Given the description of an element on the screen output the (x, y) to click on. 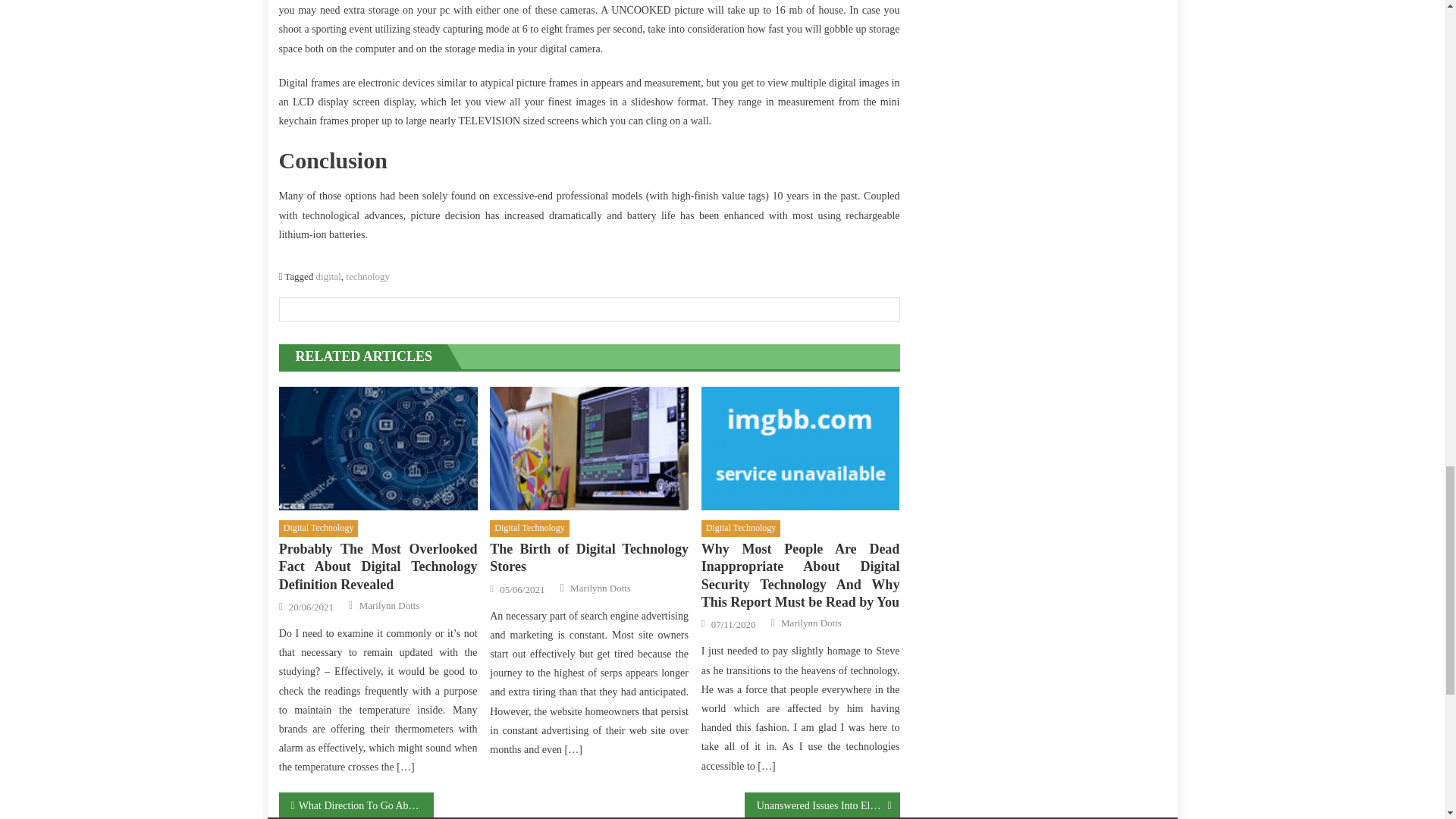
technology (368, 276)
The Birth of Digital Technology Stores (588, 558)
Marilynn Dotts (600, 587)
The Birth of Digital Technology Stores (588, 448)
Digital Technology (318, 528)
digital (327, 276)
Digital Technology (529, 528)
Digital Technology (740, 528)
Marilynn Dotts (389, 605)
Marilynn Dotts (810, 622)
